Given the description of an element on the screen output the (x, y) to click on. 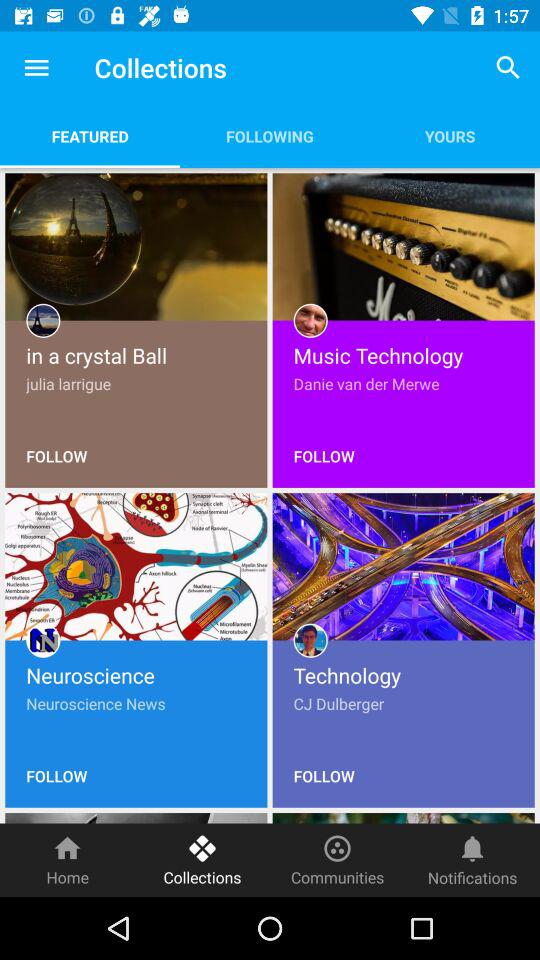
launch the icon next to the yours icon (270, 135)
